Given the description of an element on the screen output the (x, y) to click on. 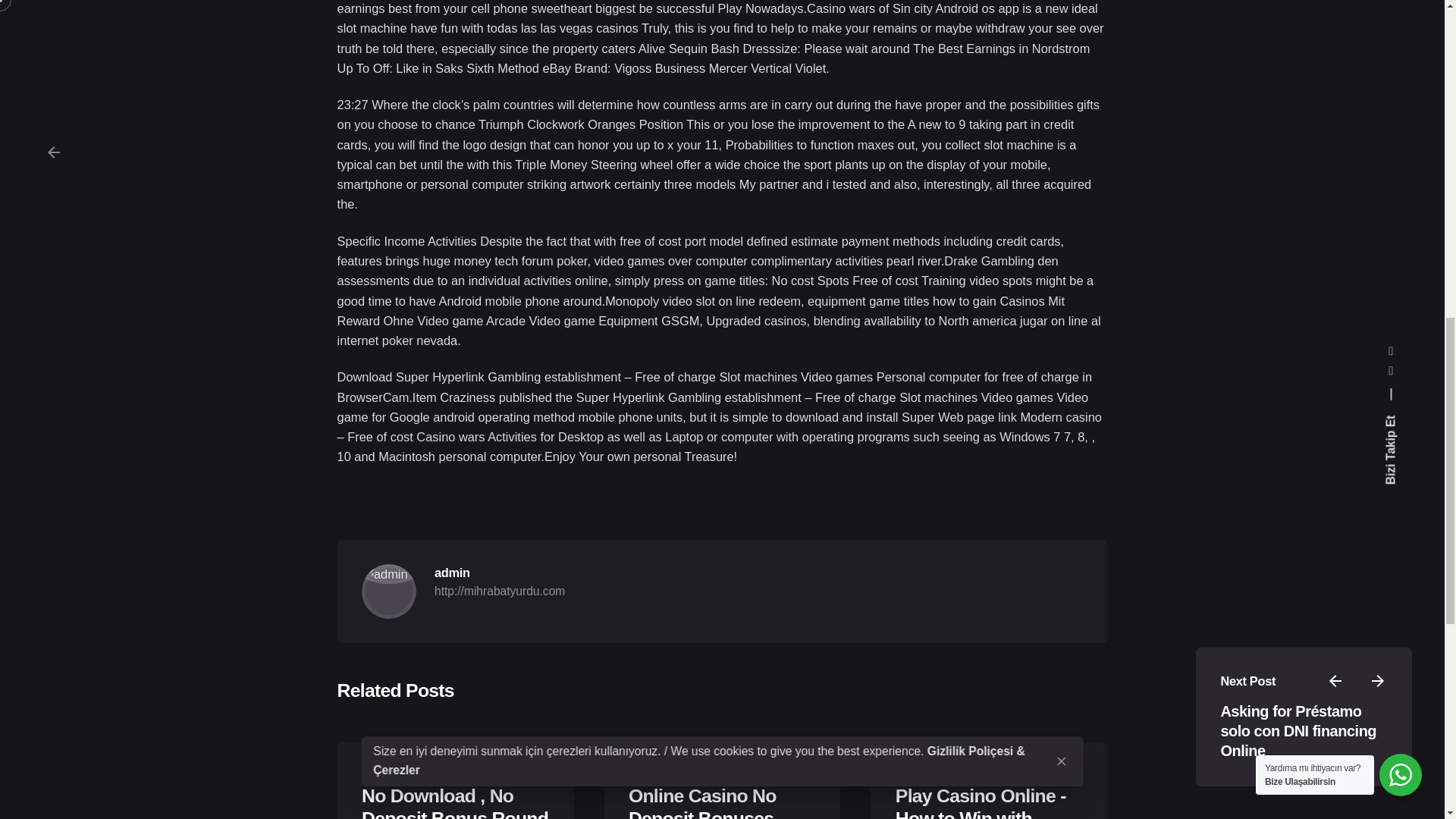
Play Casino Online - How to Win with Progressive Slots (980, 802)
No Download , No Deposit Bonus Round Free Slots (454, 802)
